Given the description of an element on the screen output the (x, y) to click on. 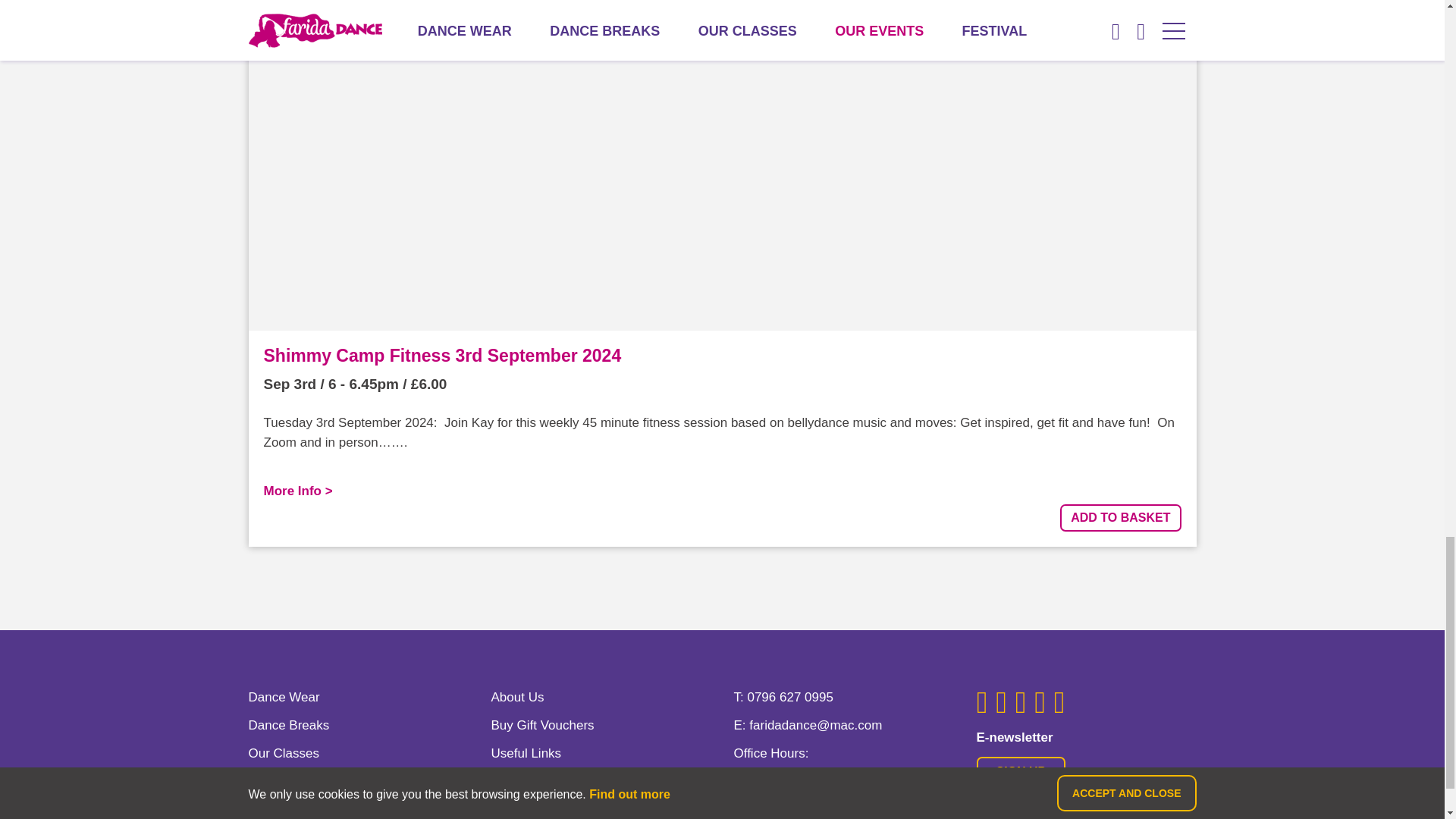
Useful Links (527, 753)
Dance Breaks (289, 725)
Our Classes (284, 753)
Buy Gift Vouchers (543, 725)
ADD TO BASKET (1119, 517)
Shimmy Camp Fitness 3rd September 2024 (442, 355)
Shimmy Camp Fitness 3rd September 2024 (442, 355)
About Us (518, 697)
Dance Wear (284, 697)
